Given the description of an element on the screen output the (x, y) to click on. 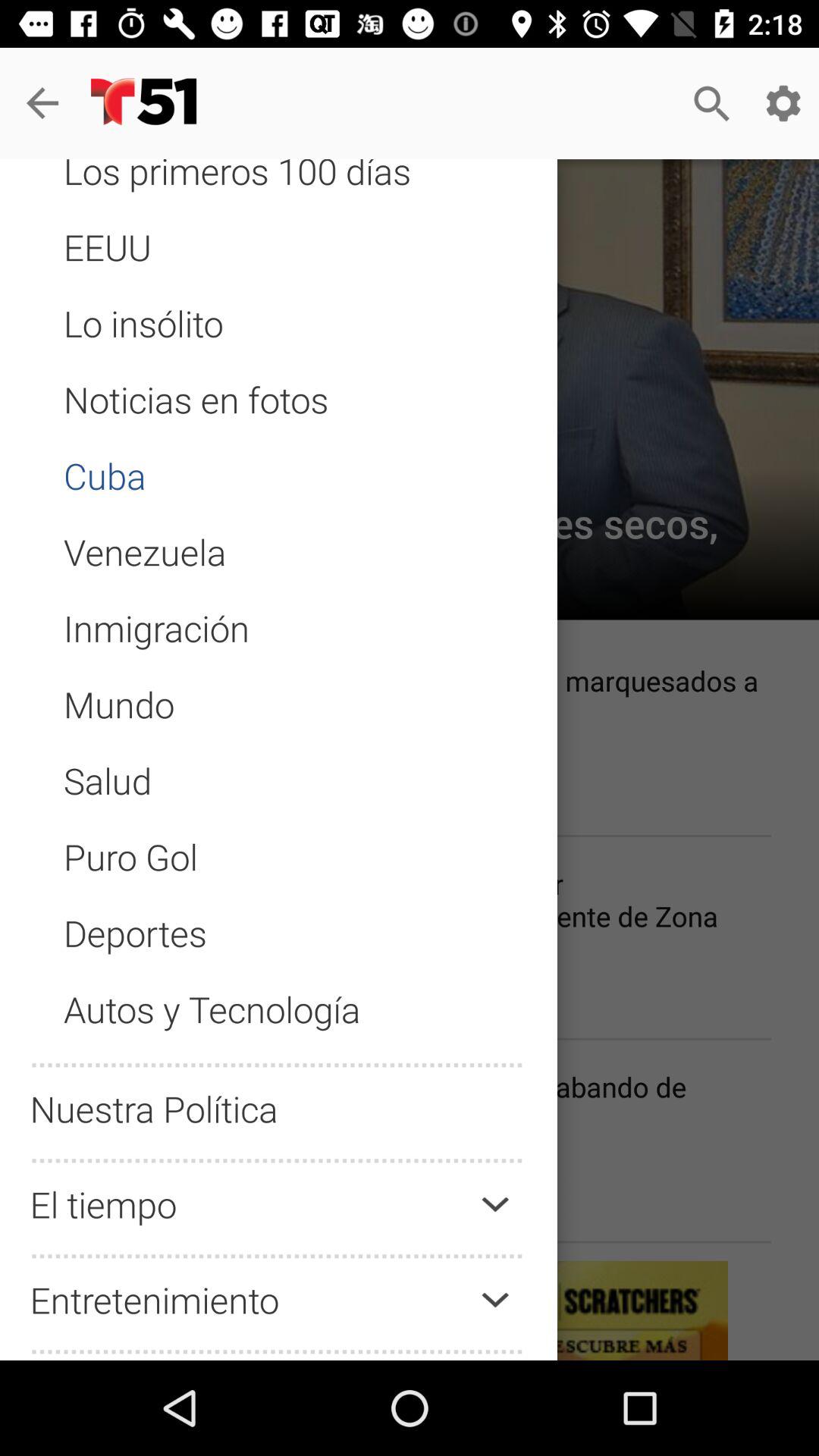
no tagging (278, 794)
